Given the description of an element on the screen output the (x, y) to click on. 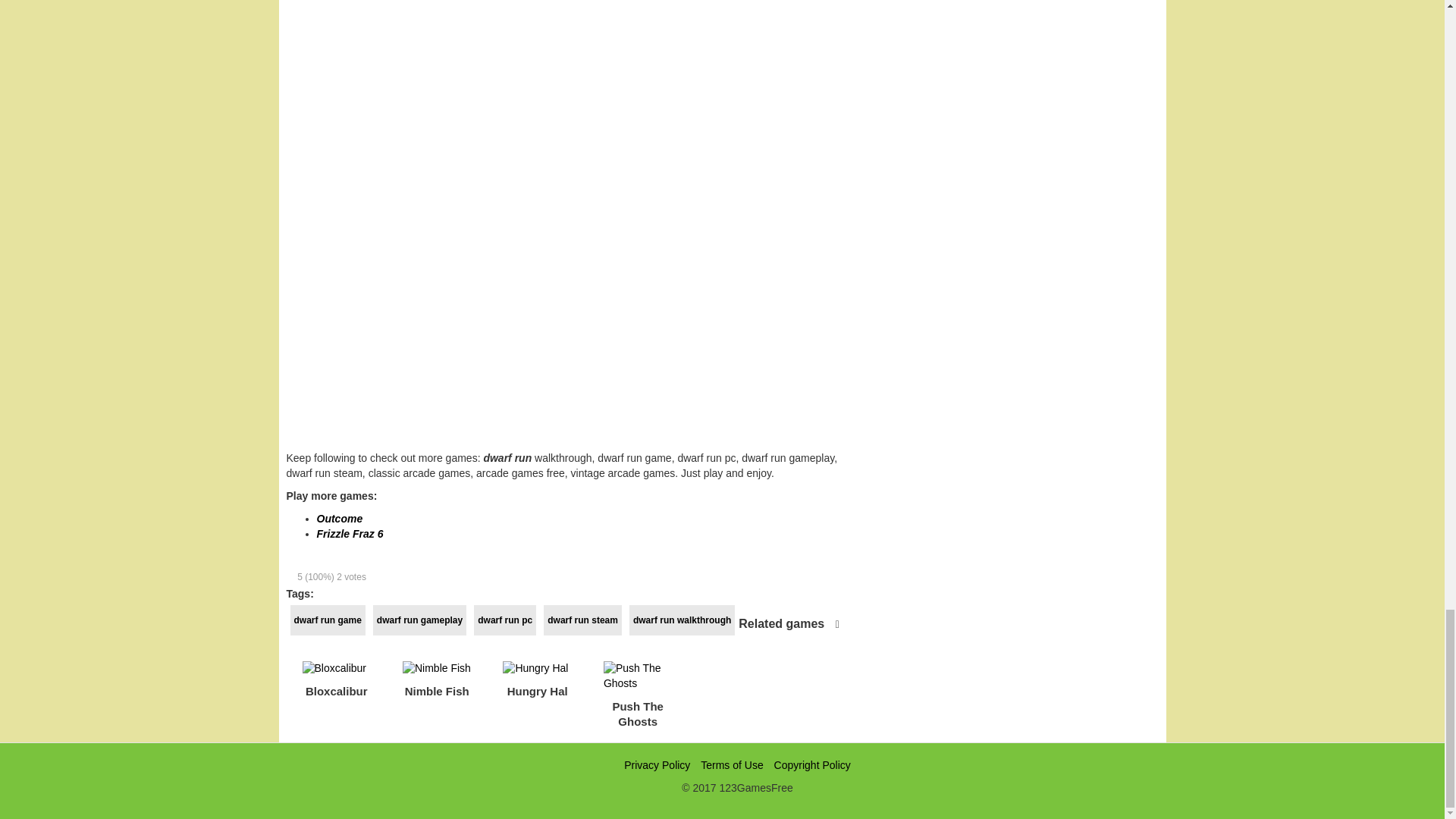
Bloxcalibur (336, 683)
dwarf run game (327, 620)
dwarf run walkthrough (681, 620)
dwarf run pc (504, 620)
Frizzle Fraz 6 (350, 533)
dwarf run gameplay (418, 620)
Privacy Policy (657, 765)
Outcome (339, 518)
Terms of Use (731, 765)
Copyright Policy (812, 765)
